Given the description of an element on the screen output the (x, y) to click on. 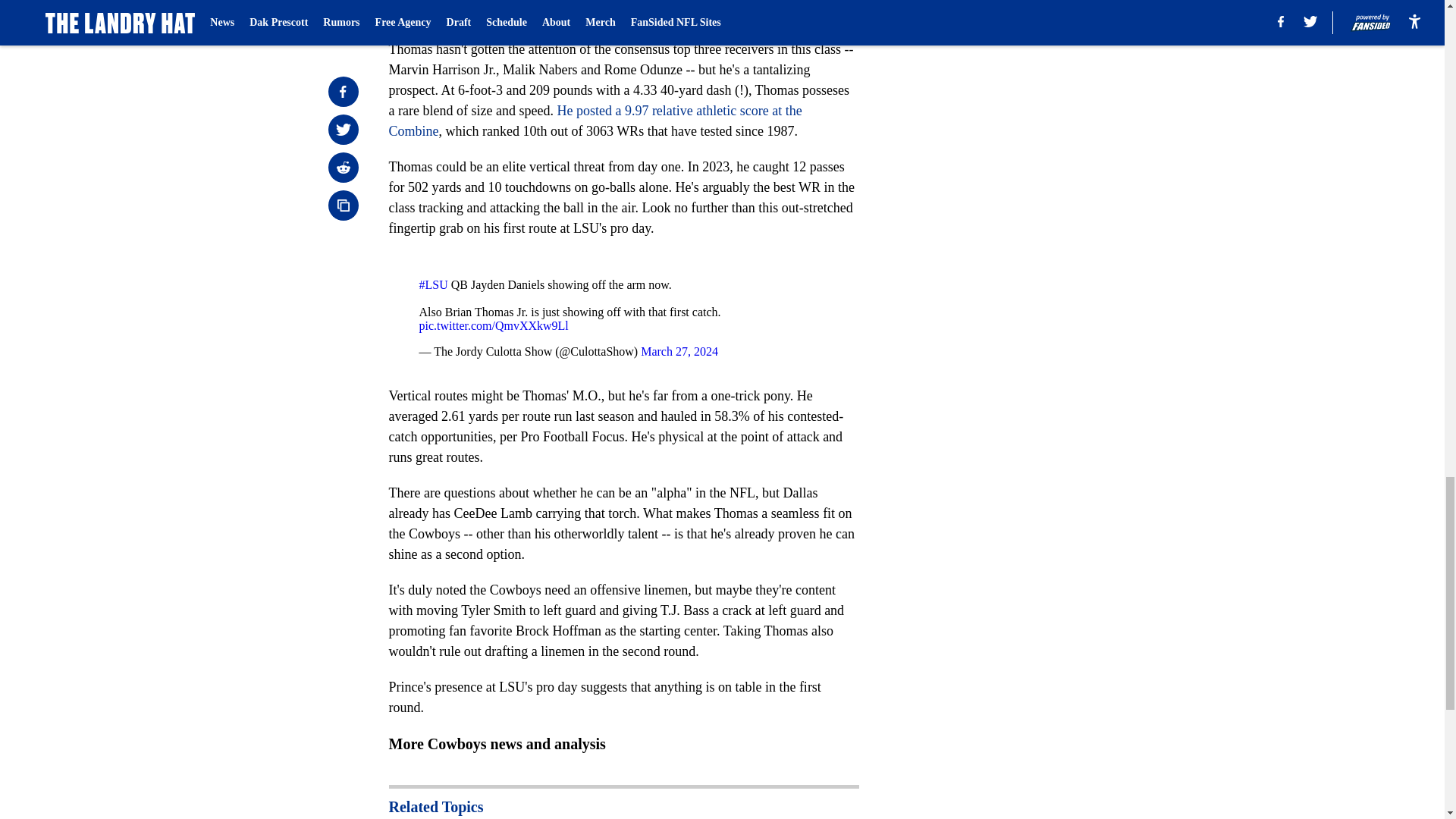
He posted a 9.97 relative athletic score at the Combine (595, 120)
March 27, 2024 (678, 350)
